Given the description of an element on the screen output the (x, y) to click on. 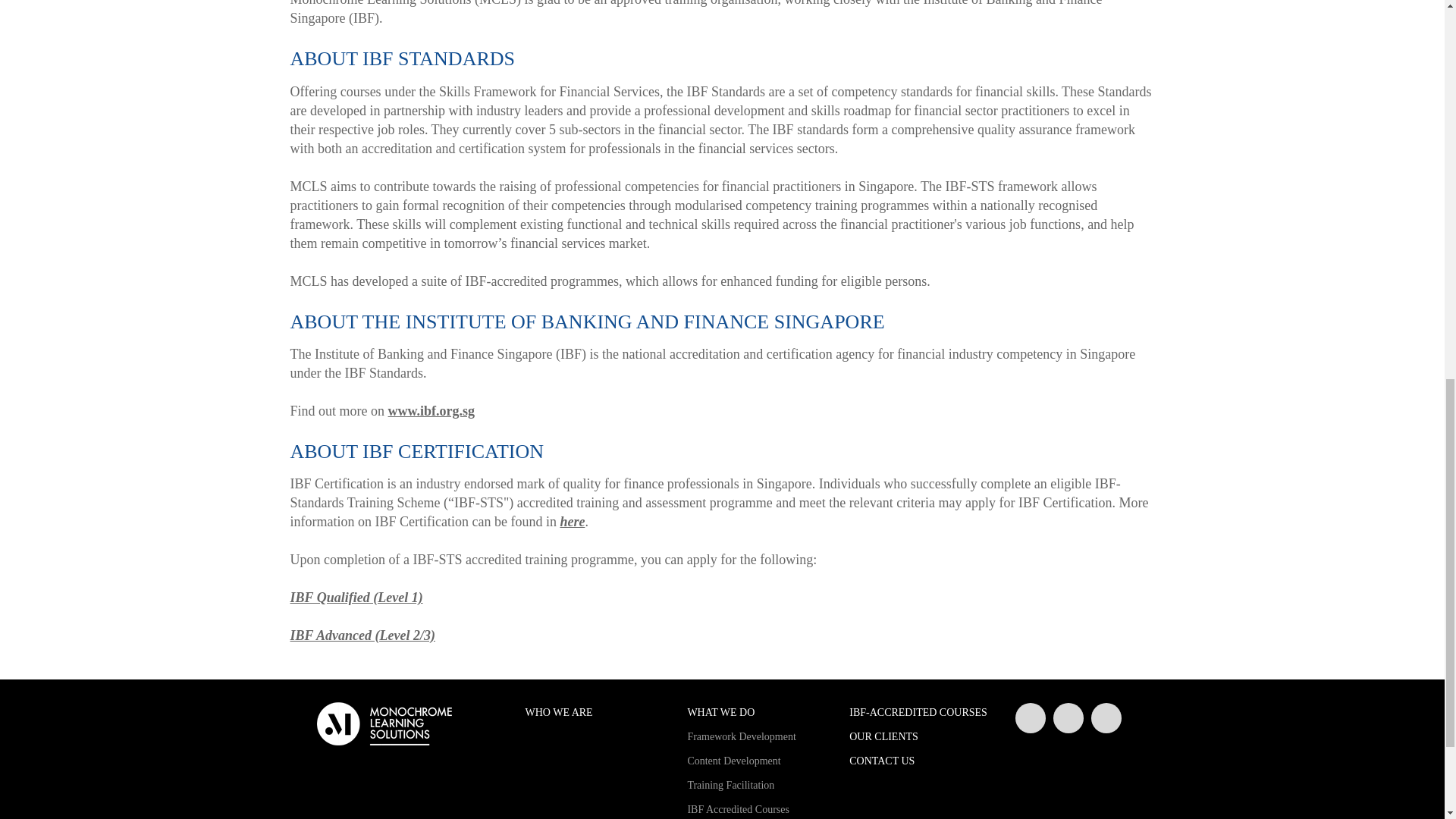
www.ibf.org.sg (432, 410)
WHO WE ARE (593, 712)
here (572, 521)
WHAT WE DO (757, 712)
Framework Development (757, 737)
Content Development (757, 760)
